Given the description of an element on the screen output the (x, y) to click on. 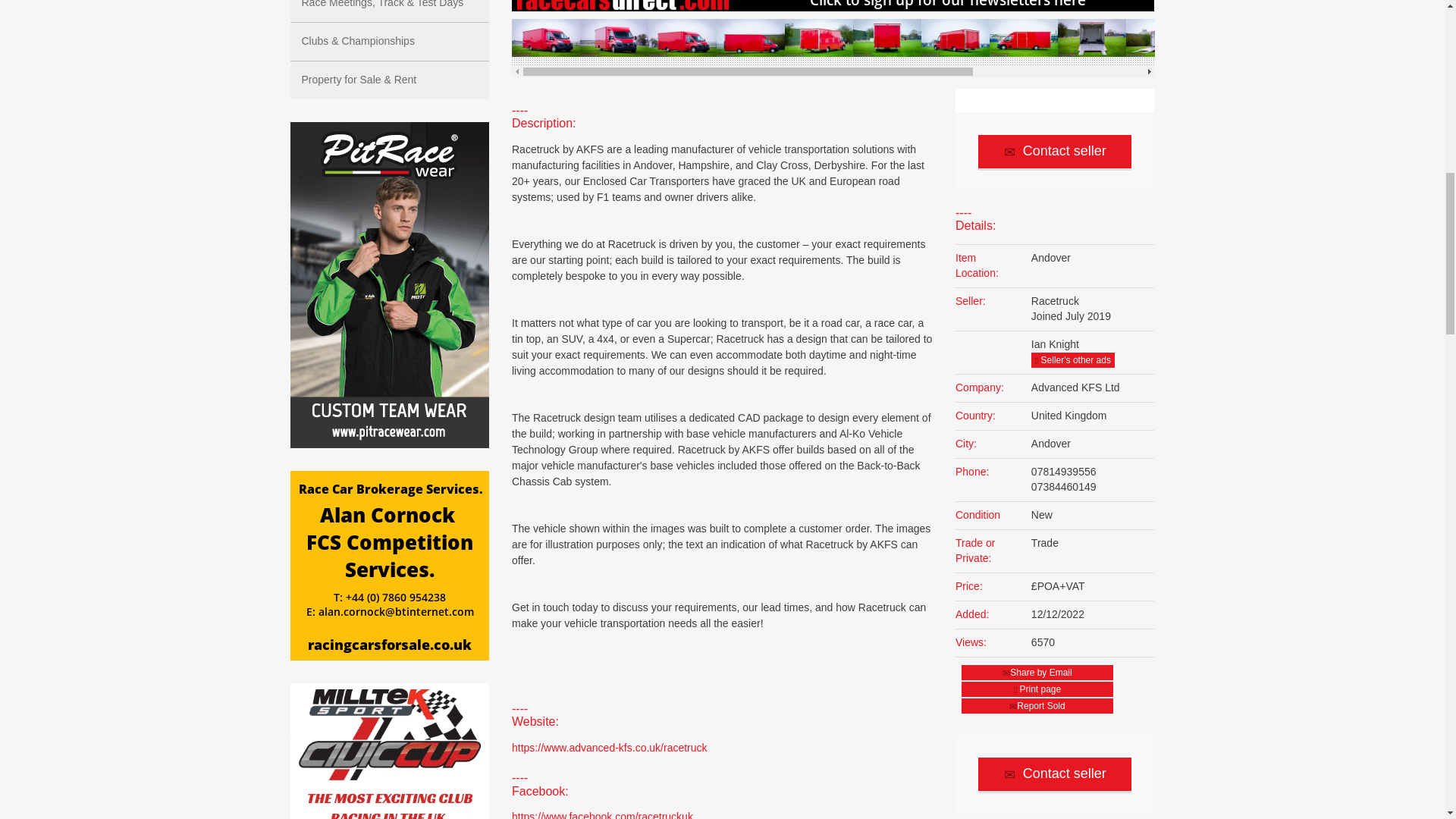
Report Sold (1036, 705)
Share by Email (1036, 672)
Civic Cup (389, 751)
sign up (833, 5)
FCS-Cornock (389, 565)
